Given the description of an element on the screen output the (x, y) to click on. 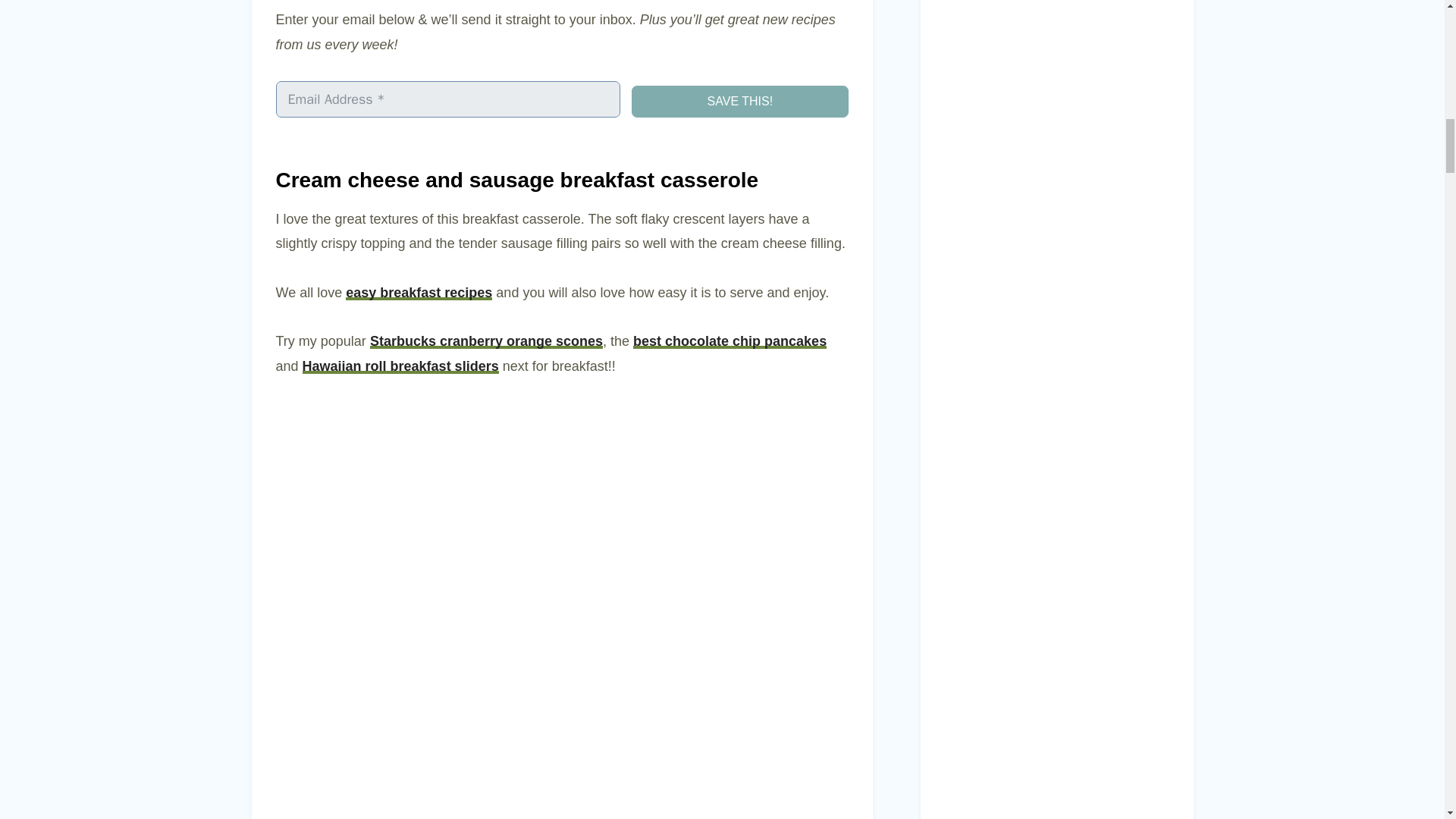
best chocolate chip pancakes (730, 340)
easy breakfast recipes (419, 292)
SAVE THIS! (739, 101)
Starbucks cranberry orange scones (485, 340)
Hawaiian roll breakfast sliders (400, 365)
